Given the description of an element on the screen output the (x, y) to click on. 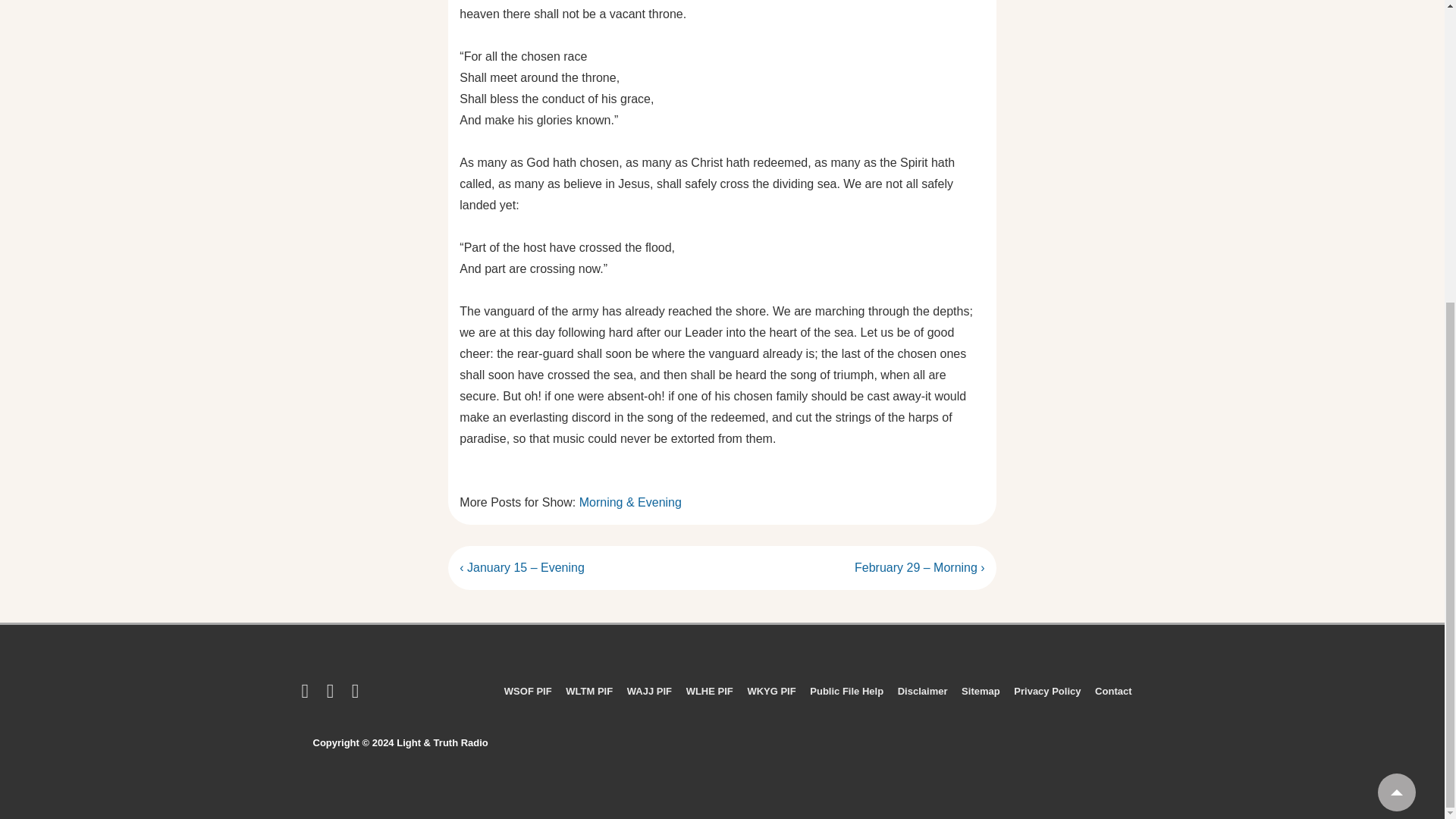
WAJJ PIF (649, 690)
WLHE PIF (709, 690)
Public File Help (846, 690)
yelp (333, 694)
rss (308, 694)
Sitemap (980, 690)
Next Related Show Post (919, 567)
Have a comment or question? Use this form to let us know. (1112, 690)
Disclaimer (922, 690)
Privacy Policy (1046, 690)
